Given the description of an element on the screen output the (x, y) to click on. 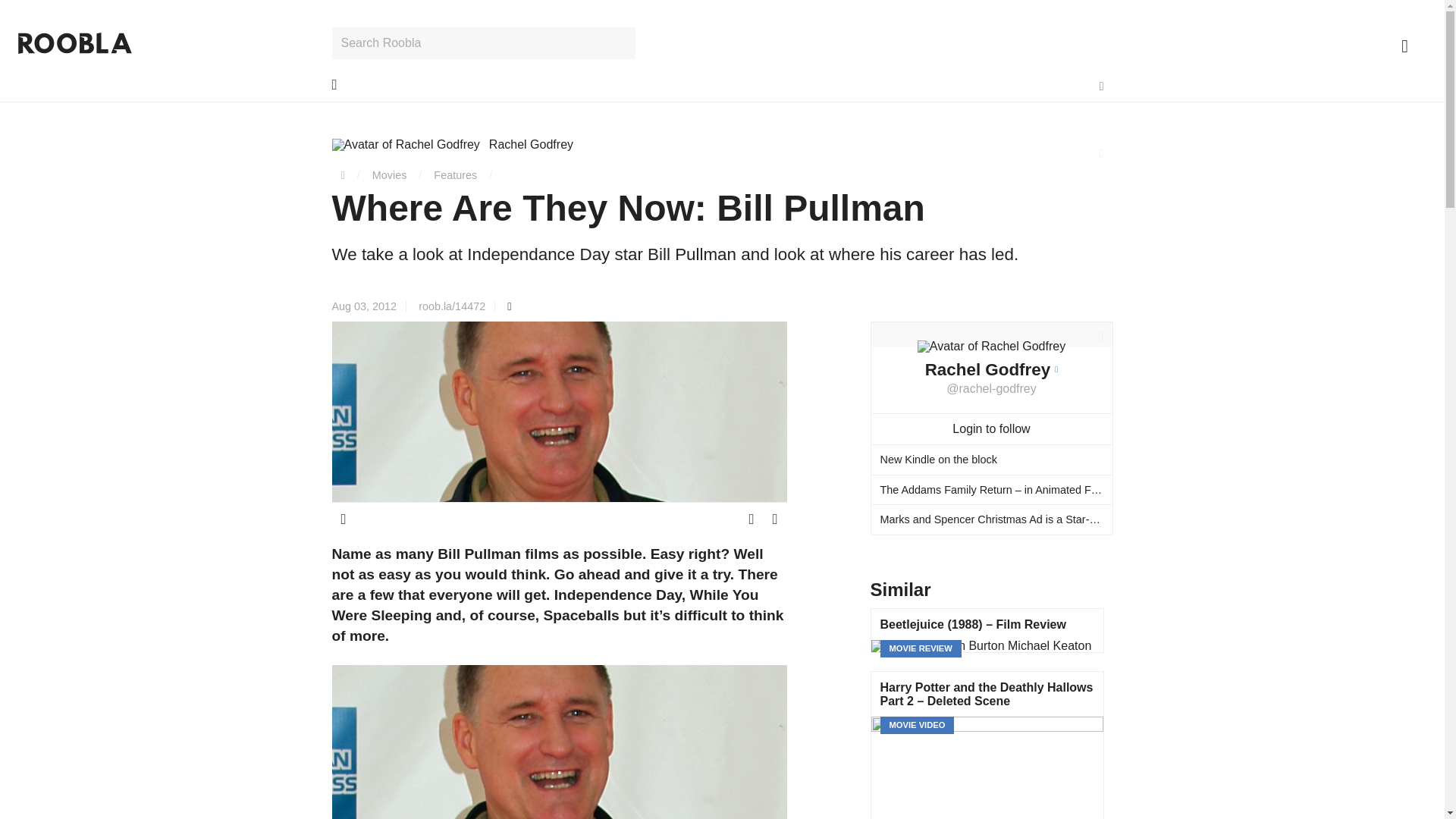
Go to Roobla Home (74, 43)
Features (455, 174)
Movies (389, 174)
View a snapshot version of this creation (508, 306)
New Kindle on the block (991, 459)
New Kindle on the block (991, 459)
Toggle dark mode (1101, 86)
Marks and Spencer Christmas Ad is a Star-Studded Fairy-Tale (991, 519)
Marks and Spencer Christmas Ad is a Star-Studded Fairy-Tale (991, 519)
Published on Aug 03, 2012, 07:12am GMT (369, 306)
Toggle darkmode (1101, 86)
Bill Pullman by David Shankbone (559, 742)
Home (342, 174)
Roobla team (452, 144)
